Given the description of an element on the screen output the (x, y) to click on. 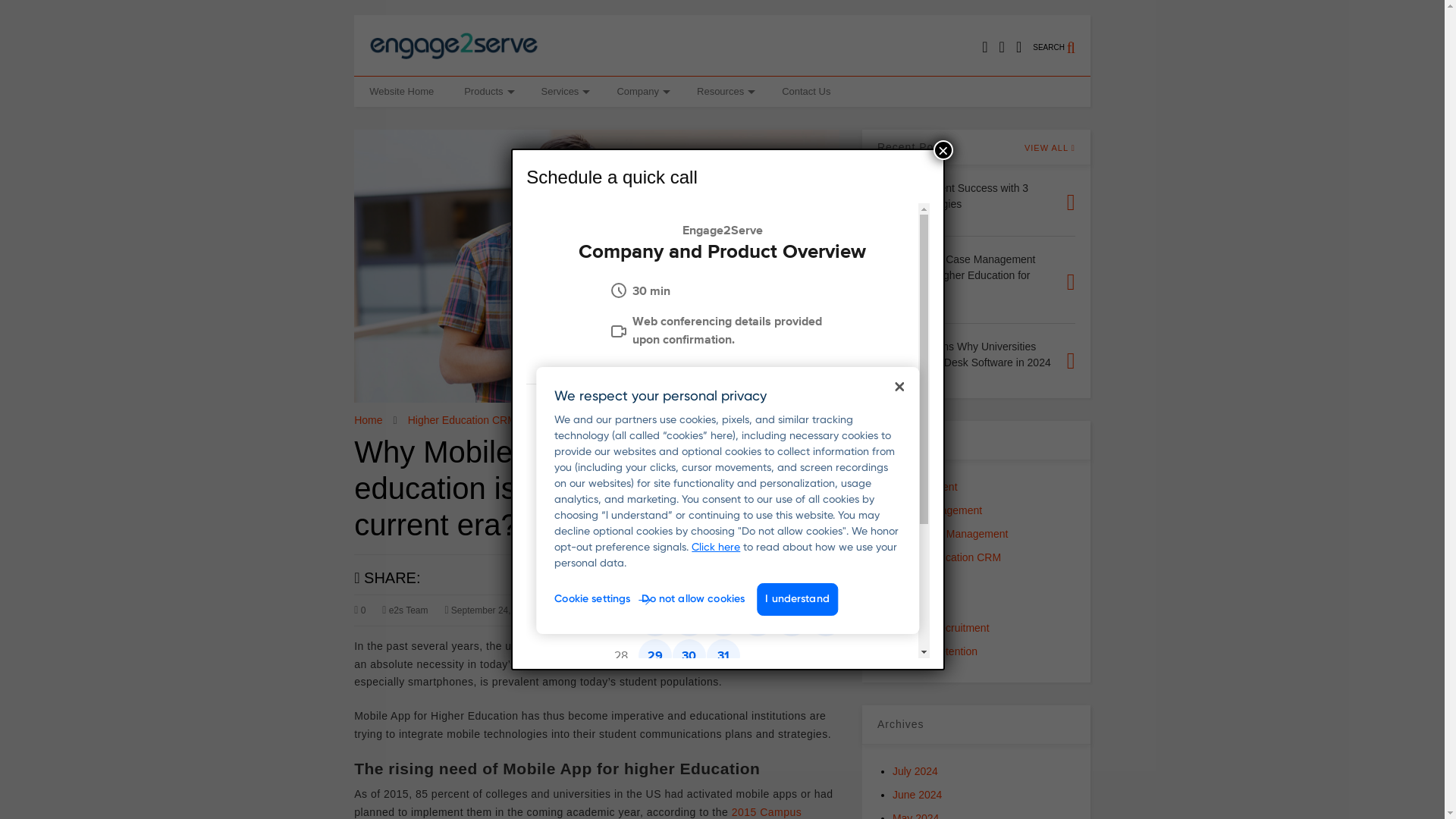
Contact Us (806, 91)
Engage2Serve (453, 56)
linkedin (1019, 46)
Resources (724, 91)
youtube (984, 46)
SEARCH (1061, 55)
Services (563, 91)
twitter (1001, 46)
permanent link (506, 610)
Products (486, 91)
Company (641, 91)
e2s Team (404, 610)
Website Home (400, 91)
